Given the description of an element on the screen output the (x, y) to click on. 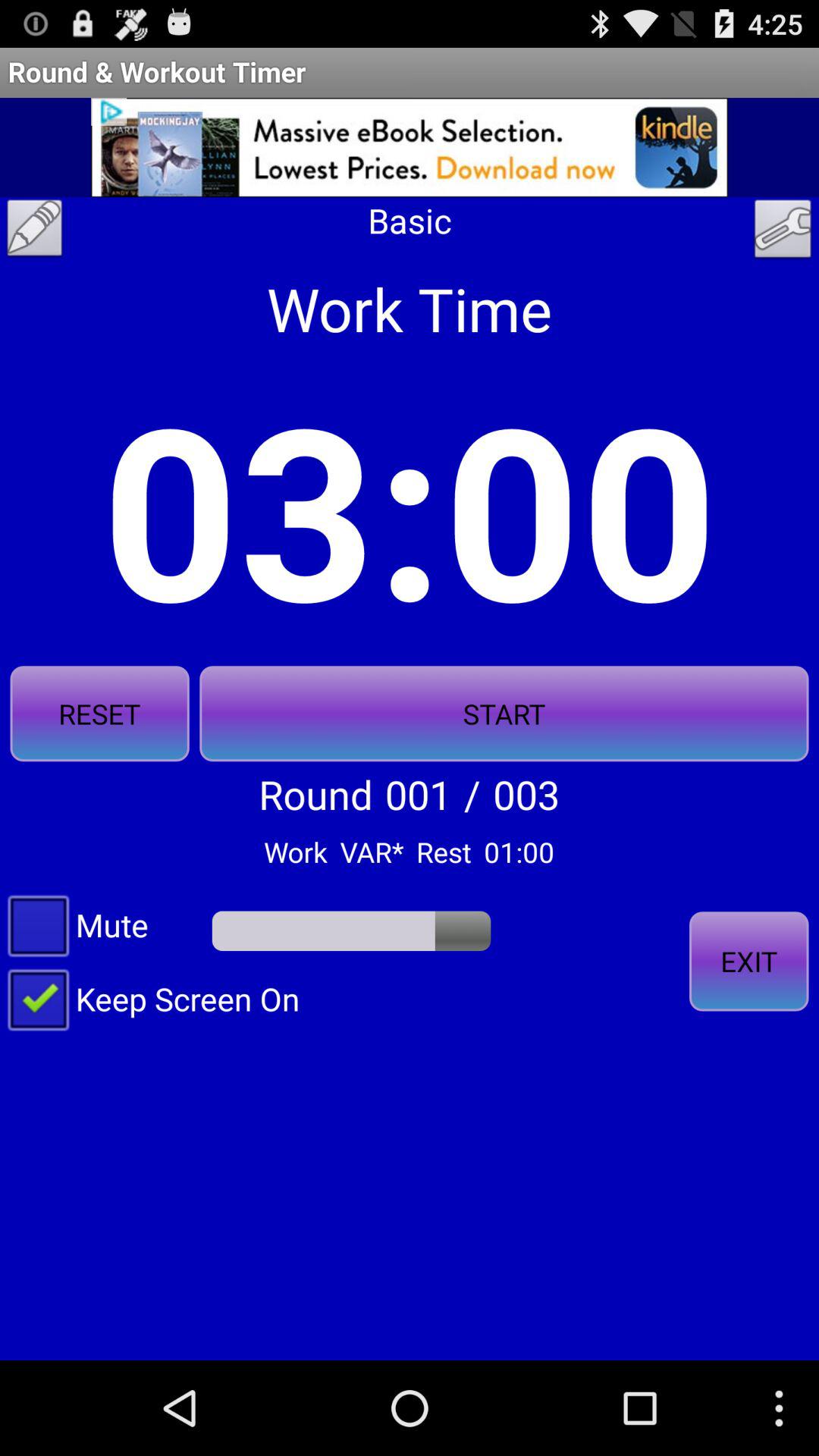
enter title of timer (34, 232)
